Given the description of an element on the screen output the (x, y) to click on. 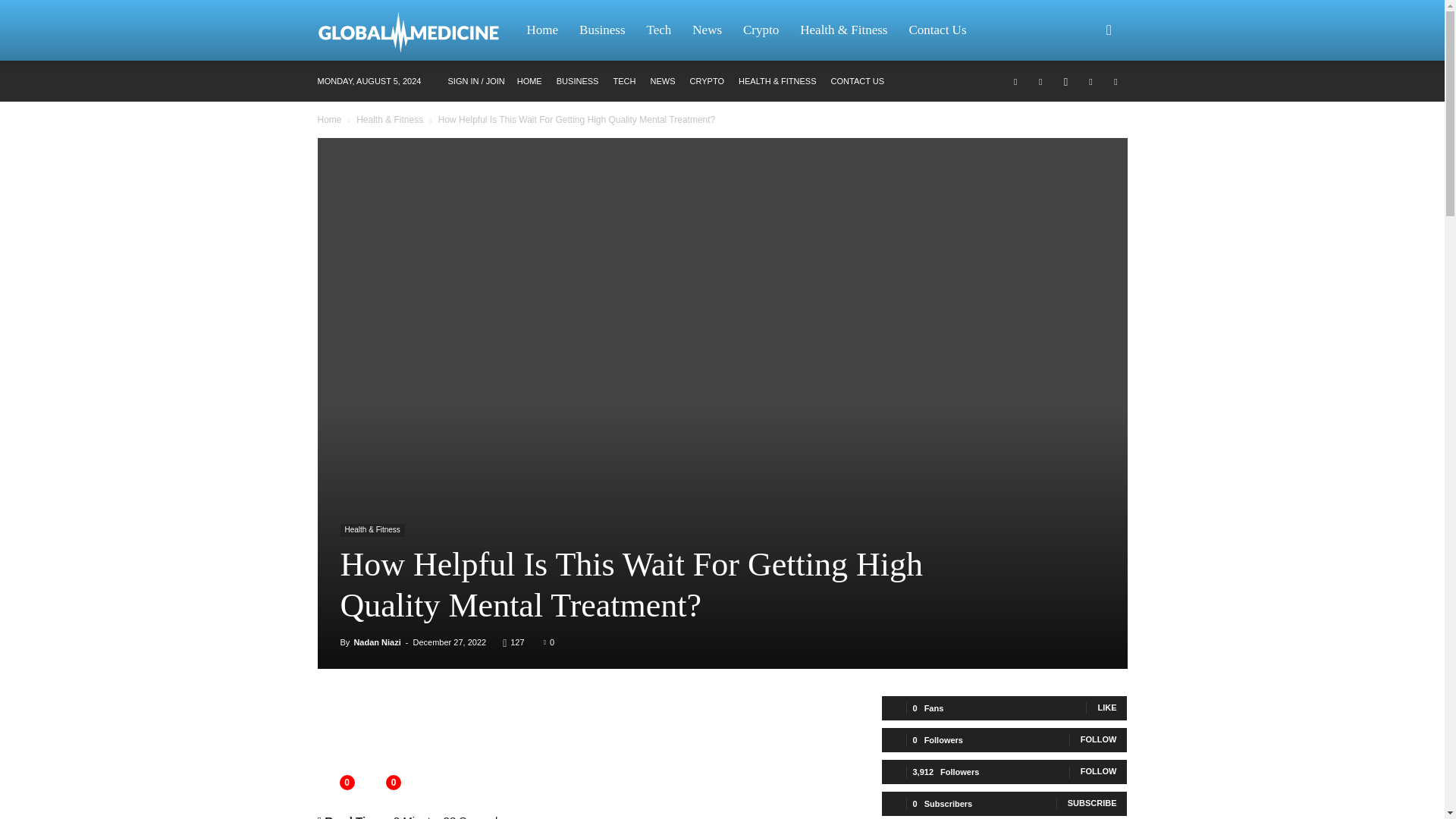
HOME (528, 80)
Crypto (760, 30)
DailyTimeZone (416, 30)
Business (601, 30)
TECH (623, 80)
NEWS (662, 80)
Search (1085, 102)
Contact Us (937, 30)
BUSINESS (577, 80)
